Given the description of an element on the screen output the (x, y) to click on. 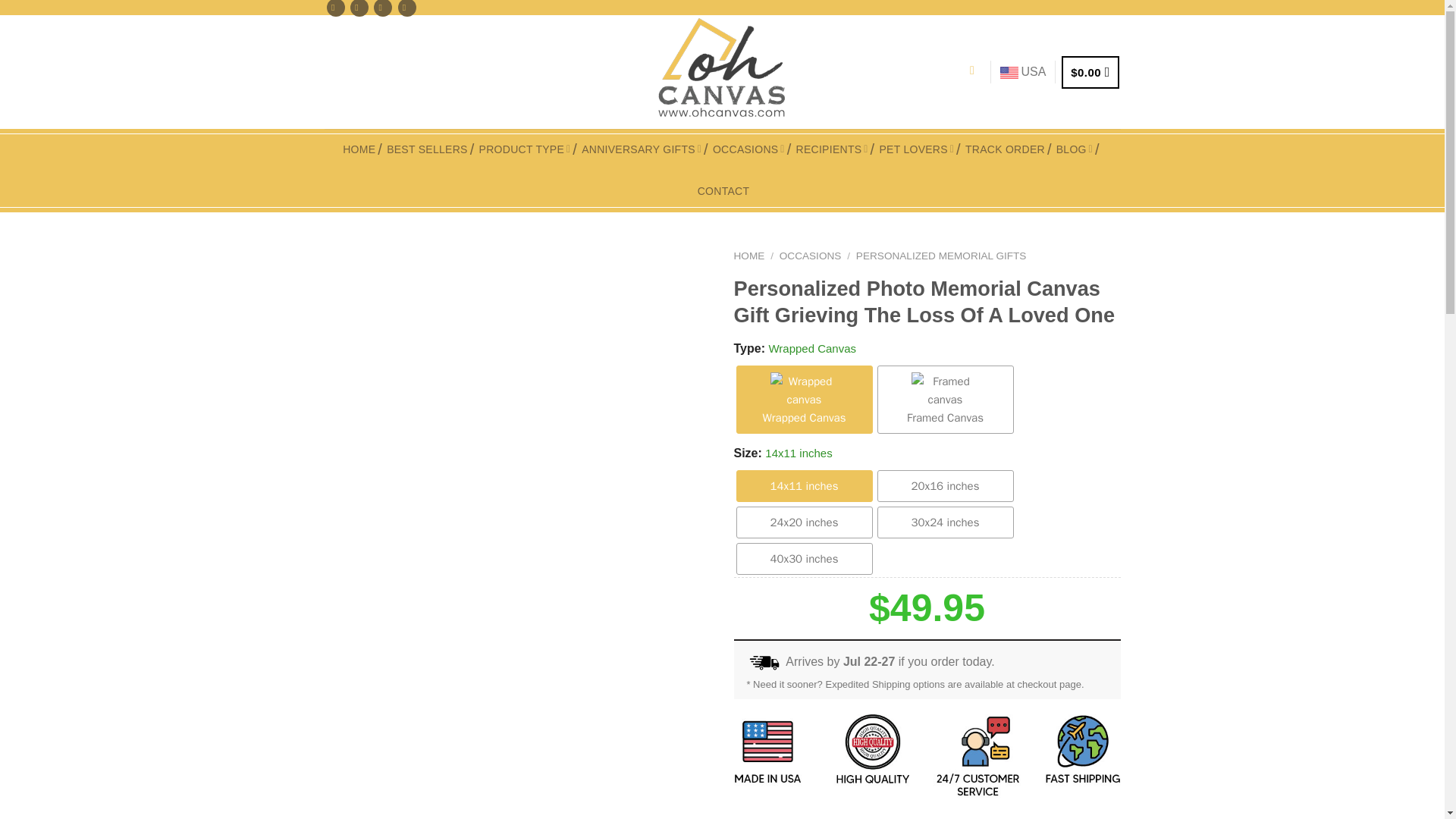
ANNIVERSARY GIFTS (643, 149)
Framed Canvas (944, 399)
Follow on Pinterest (382, 8)
30x24 inches (944, 522)
14x11 inches (803, 486)
Cart (1089, 72)
20x16 inches (944, 486)
Follow on YouTube (406, 8)
Wrapped Canvas (803, 399)
PRODUCT TYPE (528, 149)
Send us an email (359, 8)
HOME (361, 149)
BEST SELLERS (430, 149)
40x30 inches (803, 558)
ohcanvas - Personalized and Custom Gifts For Loved Ones (721, 72)
